Given the description of an element on the screen output the (x, y) to click on. 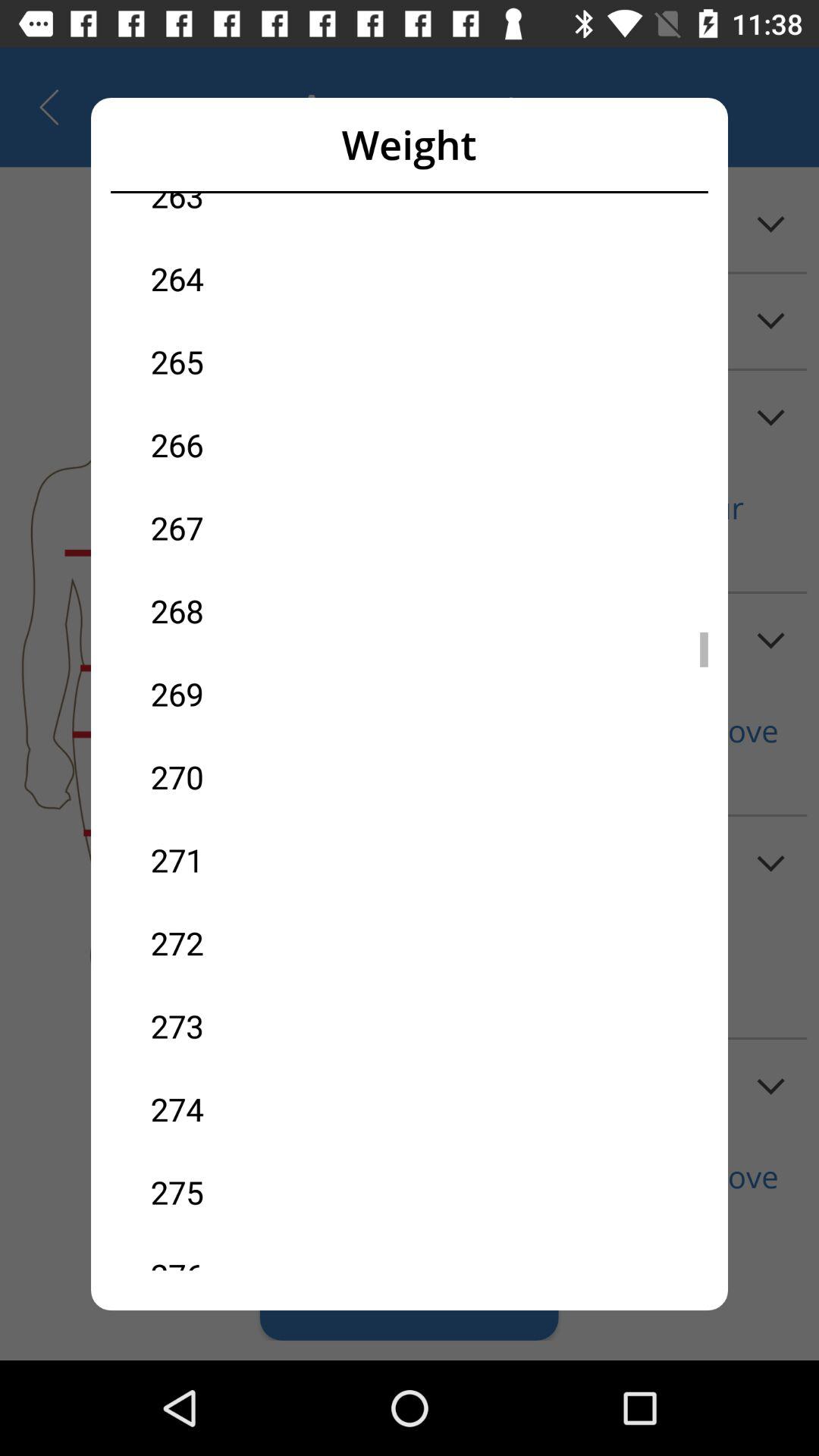
scroll until 267 icon (279, 527)
